Given the description of an element on the screen output the (x, y) to click on. 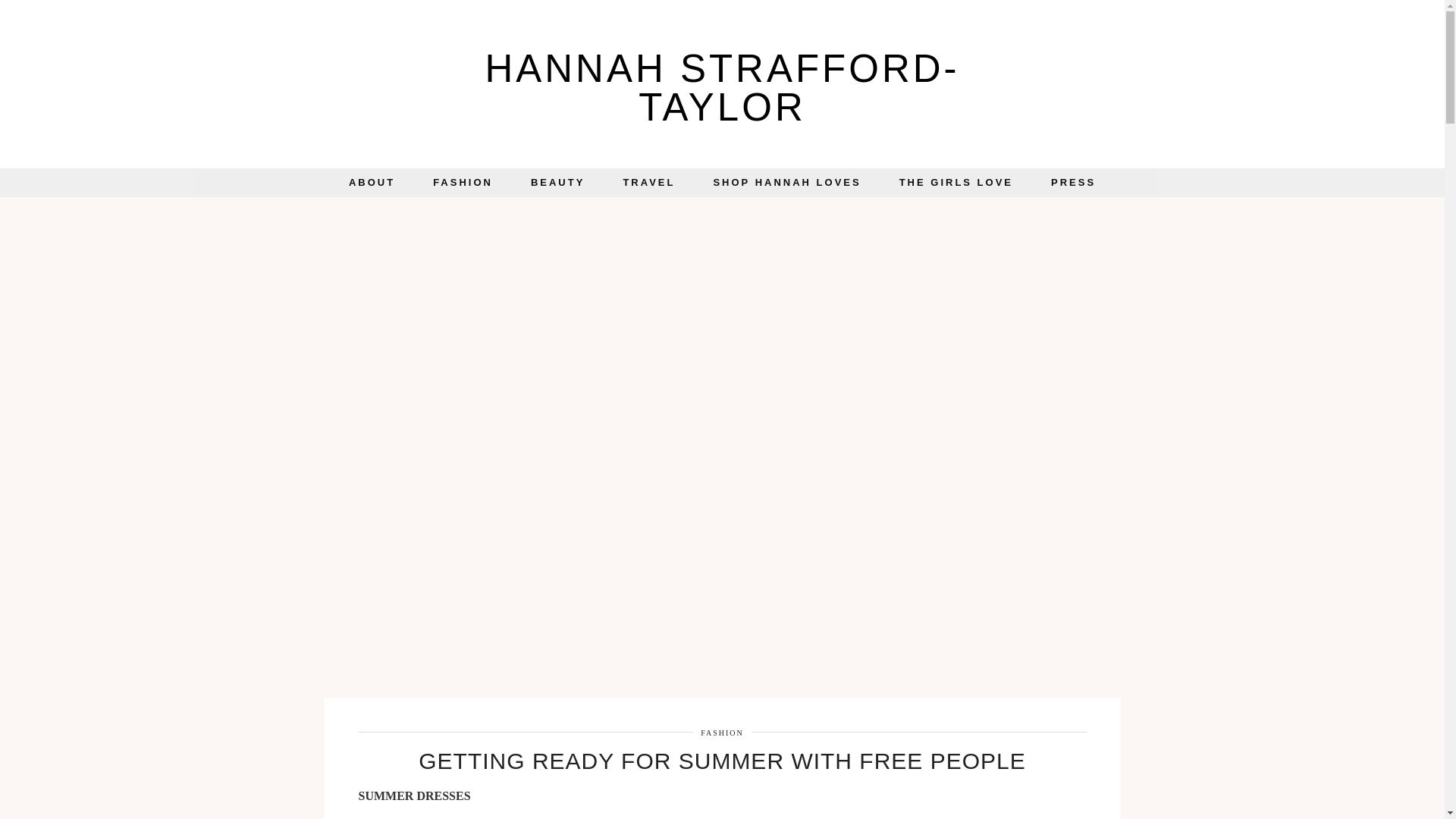
HANNAH STRAFFORD-TAYLOR (722, 87)
Hannah Strafford Taylor (722, 87)
FASHION (722, 732)
FASHION (462, 182)
TRAVEL (649, 182)
ABOUT (371, 182)
BEAUTY (558, 182)
SHOP HANNAH LOVES (786, 182)
THE GIRLS LOVE (956, 182)
PRESS (1073, 182)
